Given the description of an element on the screen output the (x, y) to click on. 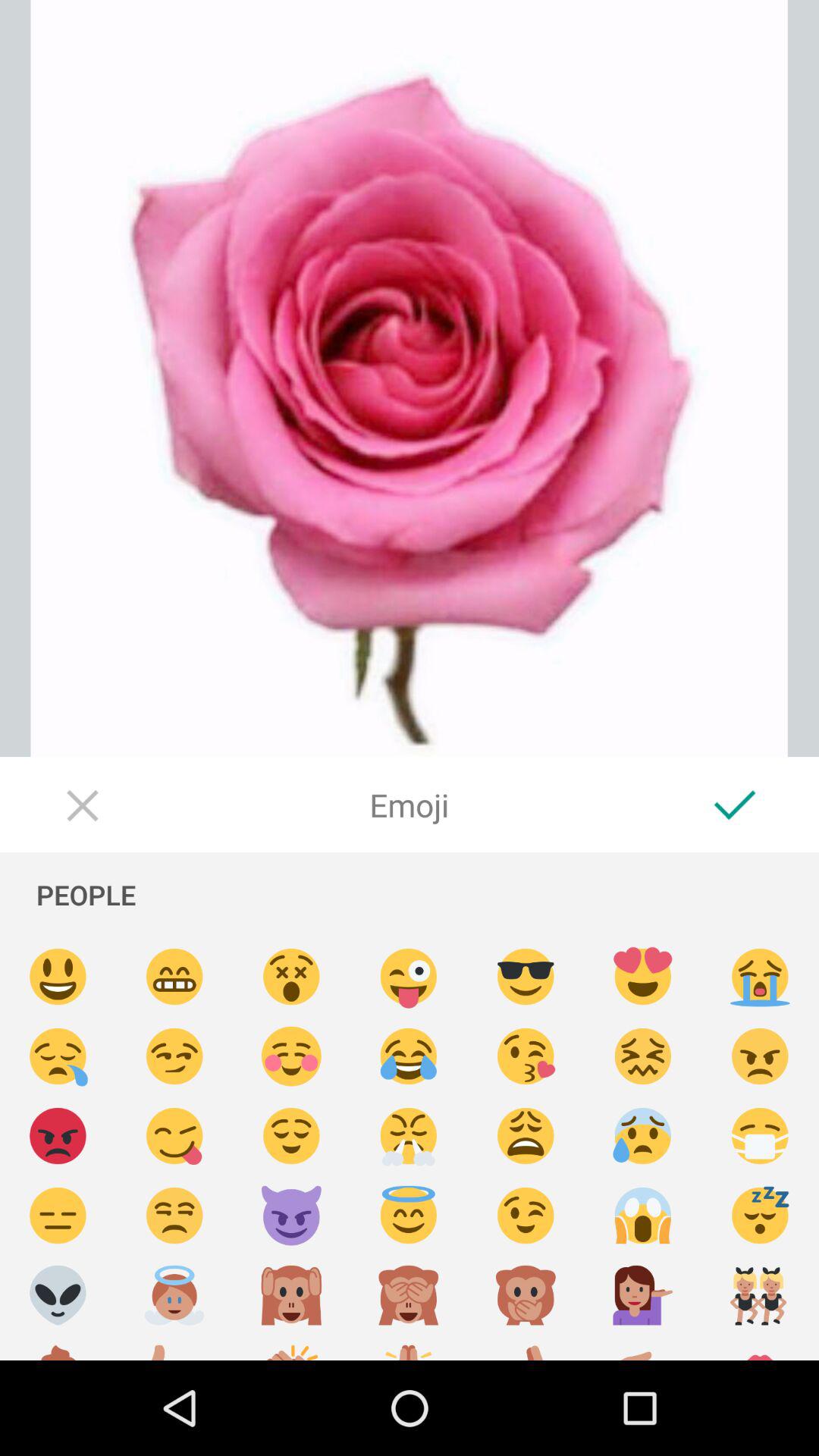
select a smiley (174, 1215)
